Given the description of an element on the screen output the (x, y) to click on. 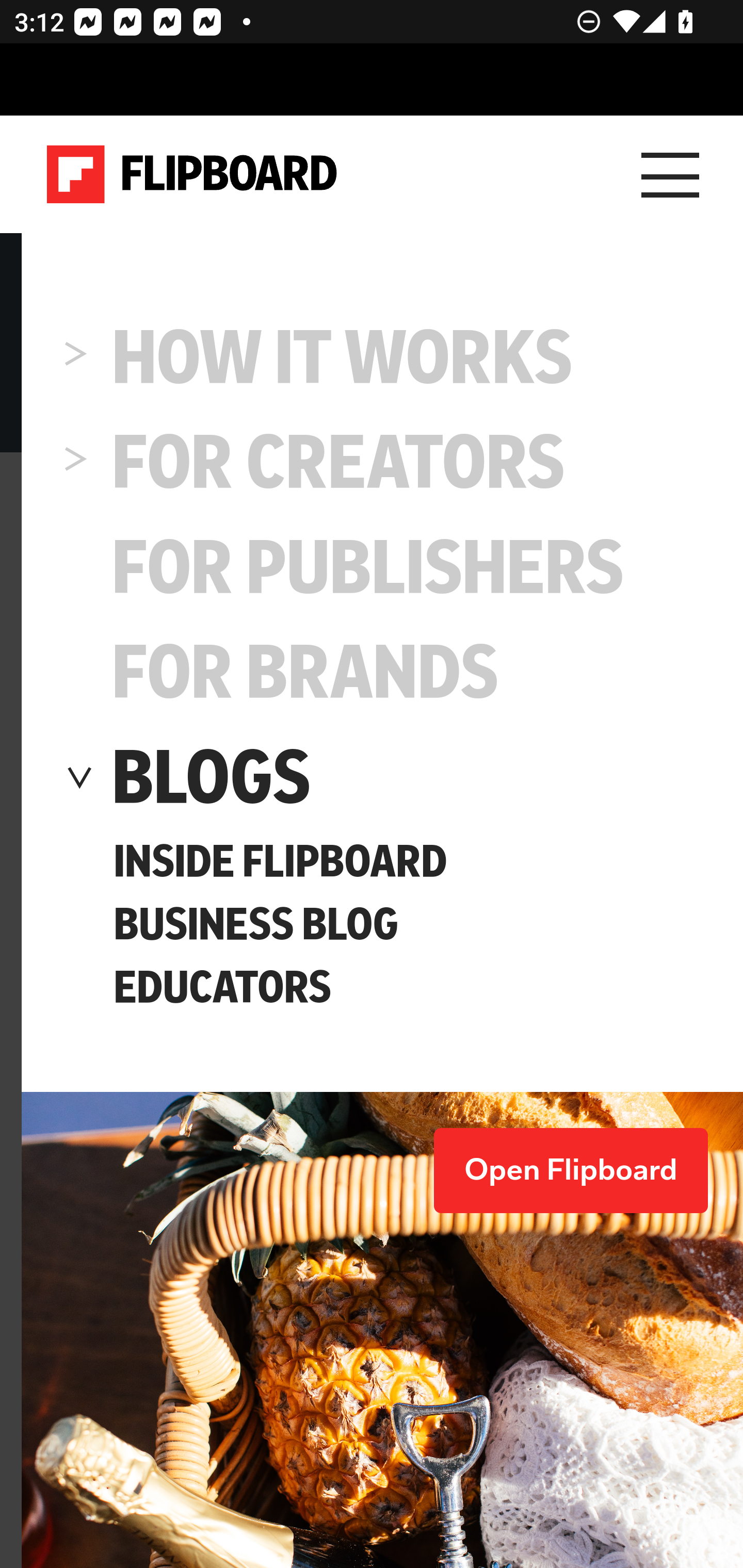
Flipboard Logo (192, 174)
HOW IT WORKS (343, 357)
 (76, 357)
FOR CREATORS (339, 462)
 (76, 462)
FOR PUBLISHERS (368, 567)
 (76, 567)
FOR BRANDS (306, 672)
 (76, 673)
BLOGS (212, 778)
 (76, 778)
INSIDE FLIPBOARD (280, 862)
BUSINESS BLOG (255, 924)
EDUCATORS (222, 987)
Open Flipboard (571, 1171)
